Given the description of an element on the screen output the (x, y) to click on. 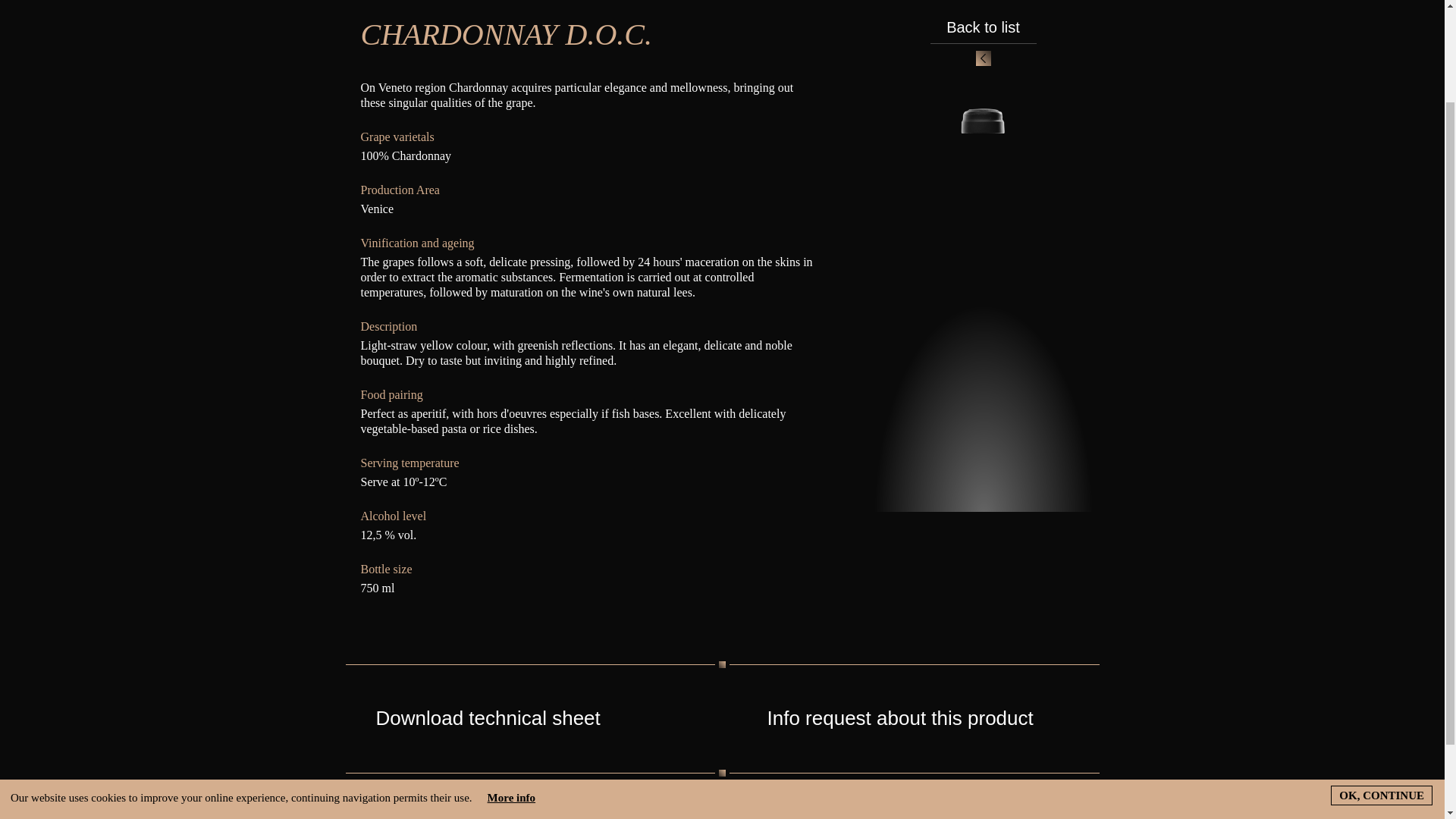
Info request about this product (918, 718)
SHARE ON (666, 804)
More info (511, 680)
OK, CONTINUE (1381, 678)
CONTACT US (575, 804)
OUR WINES (478, 804)
Download technical sheet (527, 718)
OUR WINERY (379, 804)
Back to list (982, 43)
